Given the description of an element on the screen output the (x, y) to click on. 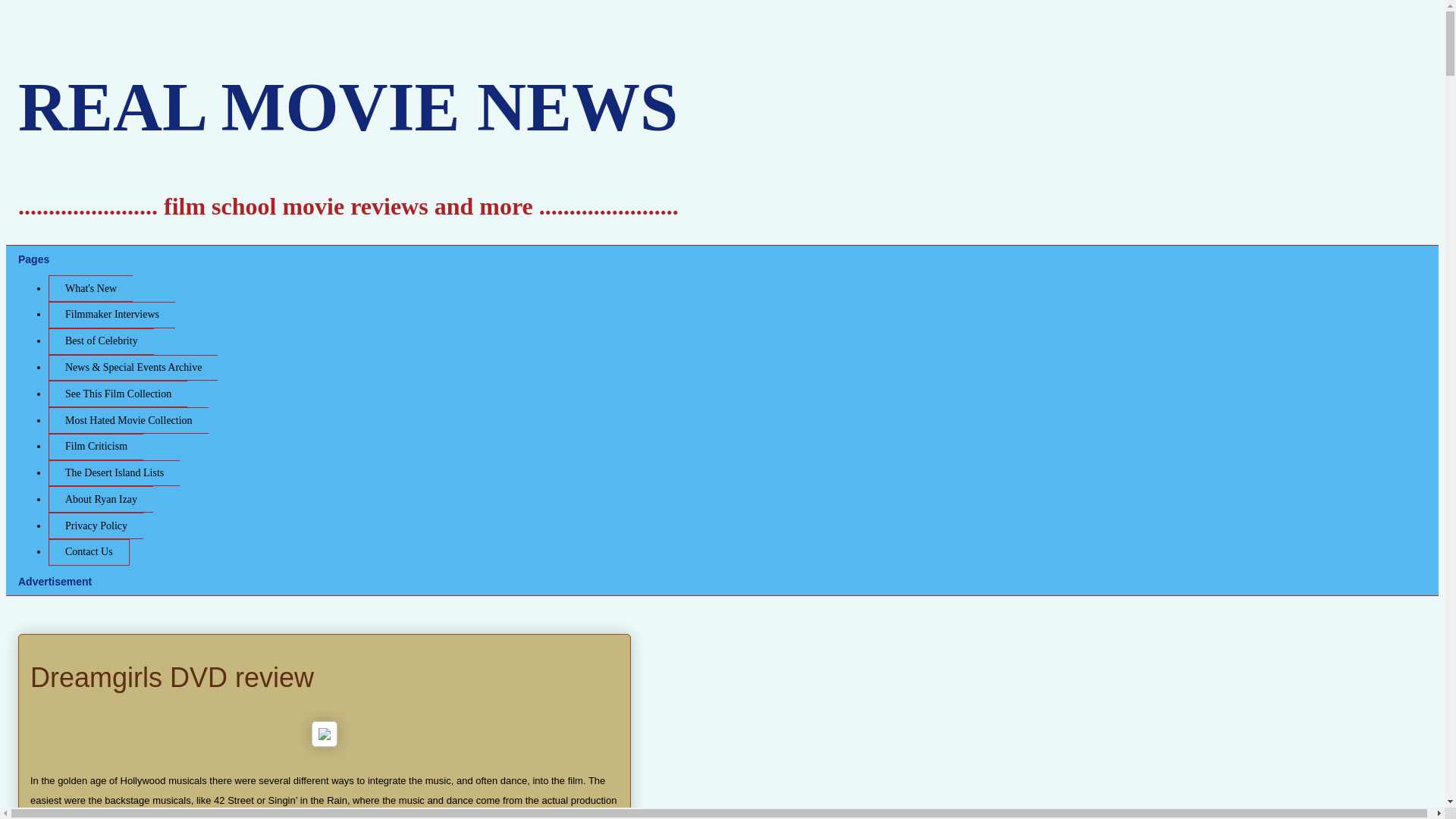
Film Criticism (95, 447)
What's New (90, 288)
See This Film Collection (117, 393)
REAL MOVIE NEWS (347, 106)
The Desert Island Lists (113, 473)
Privacy Policy (95, 525)
Filmmaker Interviews (111, 315)
Contact Us (88, 551)
About Ryan Izay (100, 499)
Most Hated Movie Collection (128, 420)
Best of Celebrity (101, 341)
